Given the description of an element on the screen output the (x, y) to click on. 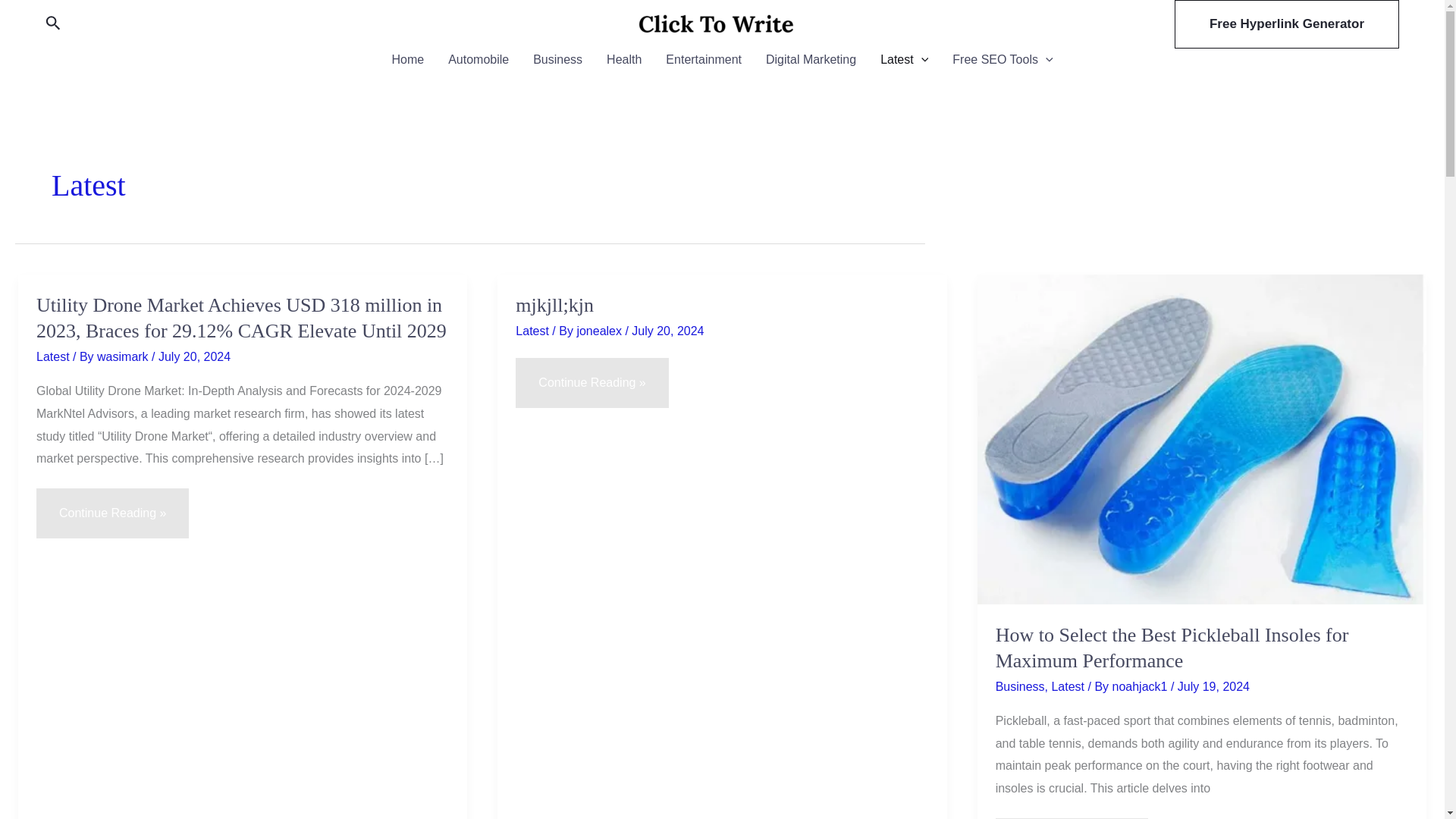
Health (623, 59)
wasimark (124, 356)
View all posts by jonealex (600, 330)
Free SEO Tools (1002, 59)
Latest (531, 330)
Entertainment (703, 59)
View all posts by wasimark (124, 356)
Business (557, 59)
Latest (903, 59)
Latest (52, 356)
mjkjll;kjn (554, 305)
Free Hyperlink Generator (1286, 24)
Automobile (478, 59)
jonealex (600, 330)
View all posts by noahjack1 (1141, 686)
